Given the description of an element on the screen output the (x, y) to click on. 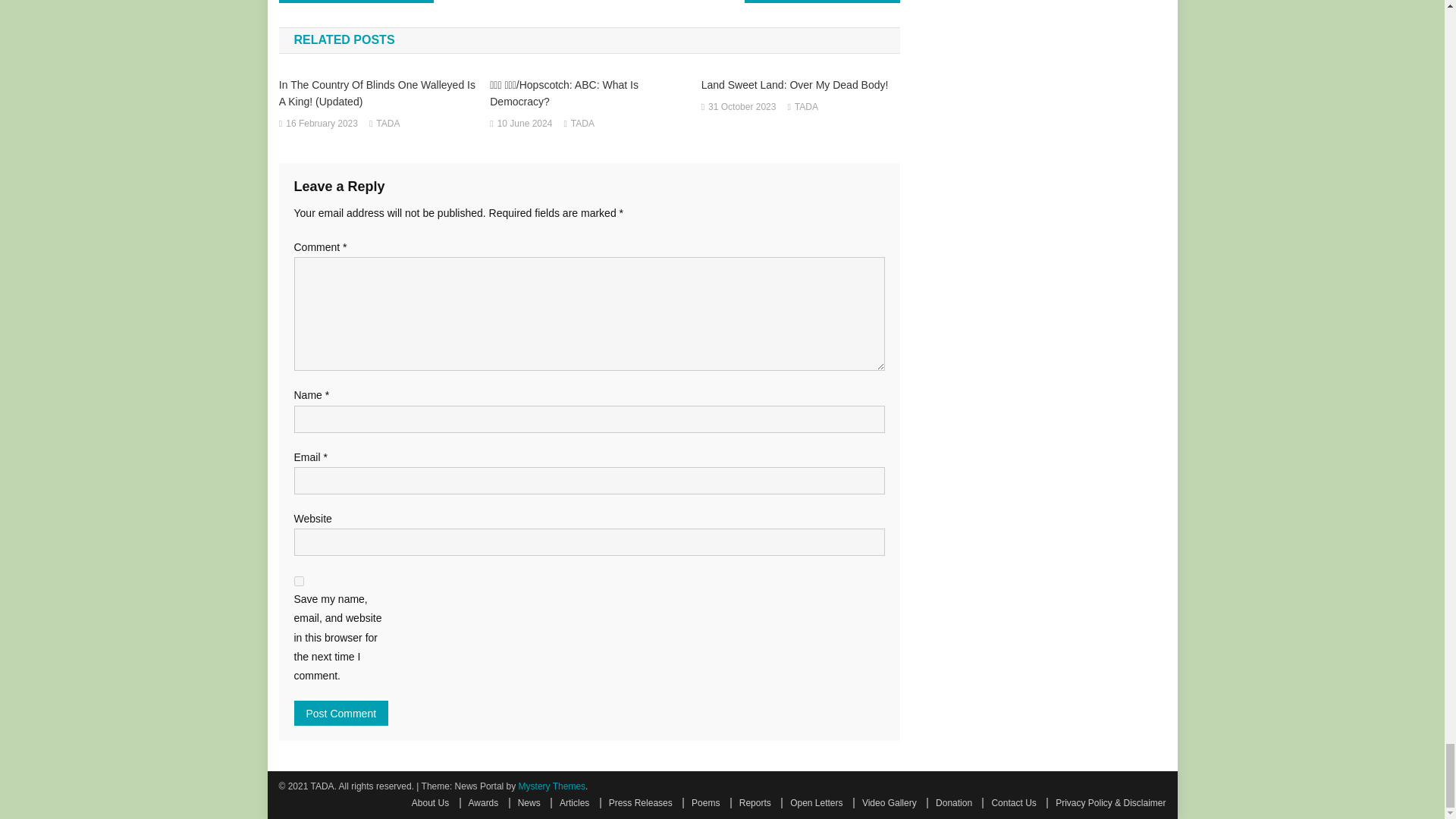
Post Comment (341, 713)
yes (299, 581)
